Given the description of an element on the screen output the (x, y) to click on. 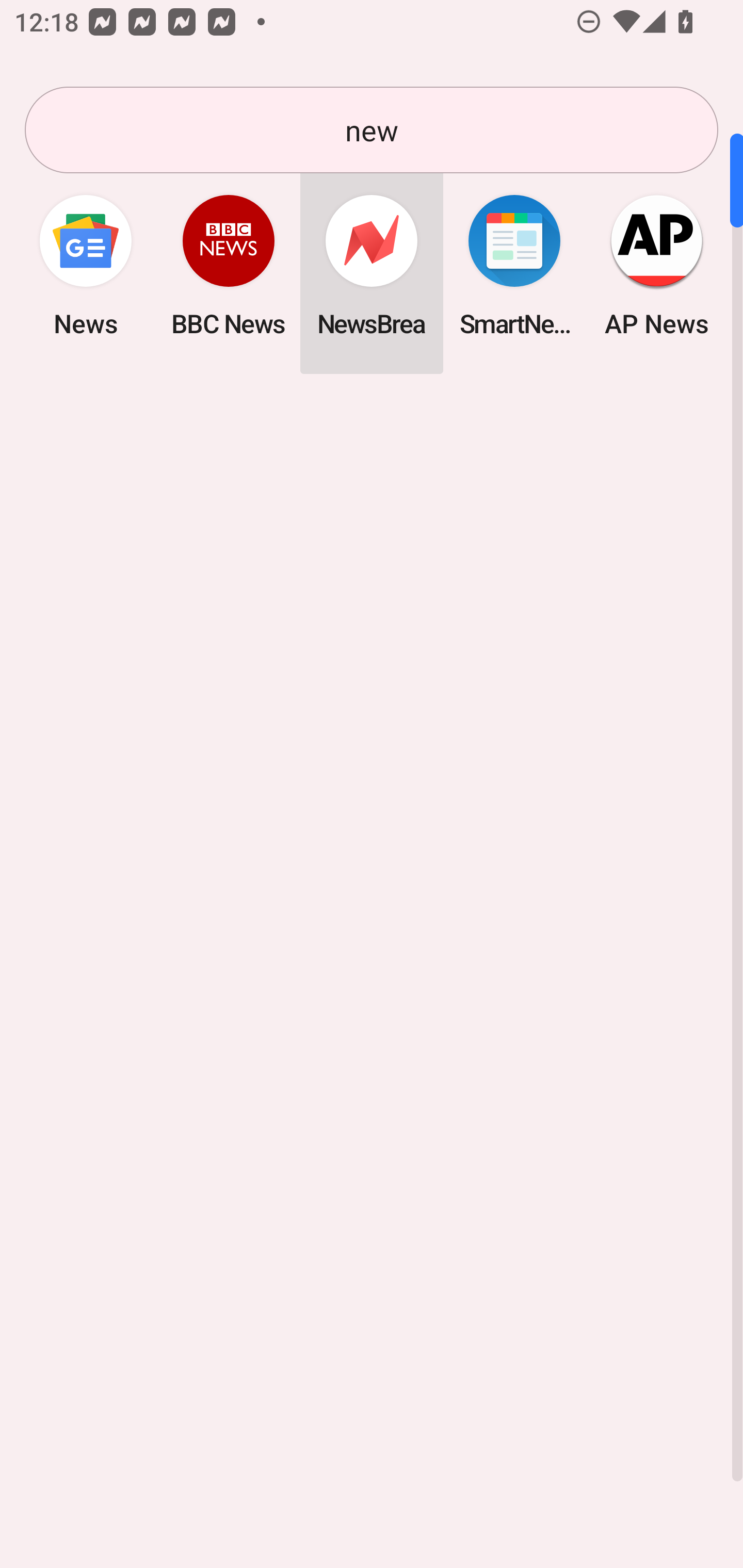
new (371, 130)
News (85, 264)
BBC News (228, 264)
NewsBreak (371, 264)
SmartNews (514, 264)
AP News (656, 264)
